Given the description of an element on the screen output the (x, y) to click on. 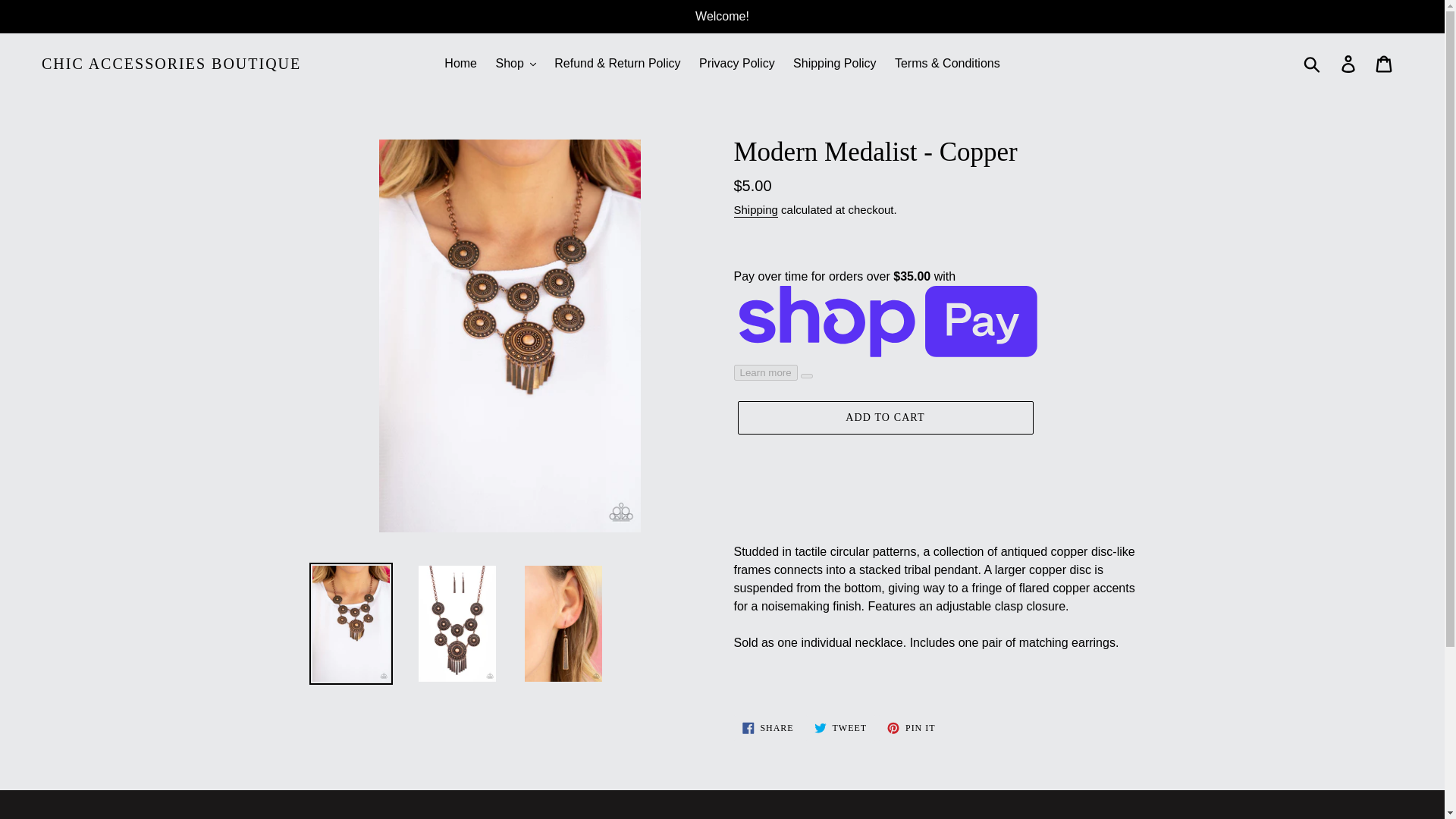
Cart (1385, 63)
Submit (1313, 63)
Home (460, 63)
CHIC ACCESSORIES BOUTIQUE (171, 63)
Shipping Policy (834, 63)
Log in (1349, 63)
Privacy Policy (737, 63)
